Given the description of an element on the screen output the (x, y) to click on. 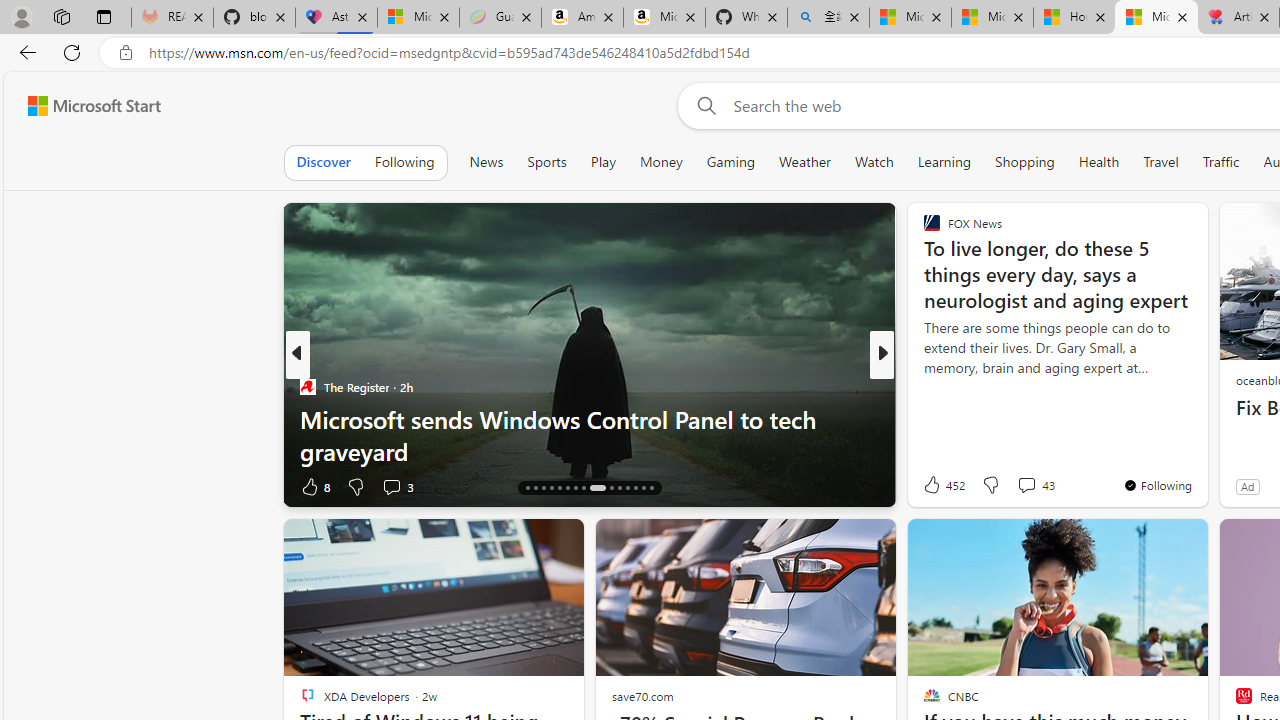
452 Like (942, 484)
AutomationID: tab-16 (527, 487)
8 Like (313, 486)
Gaming (730, 162)
20 Like (934, 486)
285 Like (936, 486)
View comments 496 Comment (1025, 486)
AutomationID: tab-25 (610, 487)
Hide this story (1147, 542)
View comments 197 Comment (1032, 486)
Learning (944, 162)
